Given the description of an element on the screen output the (x, y) to click on. 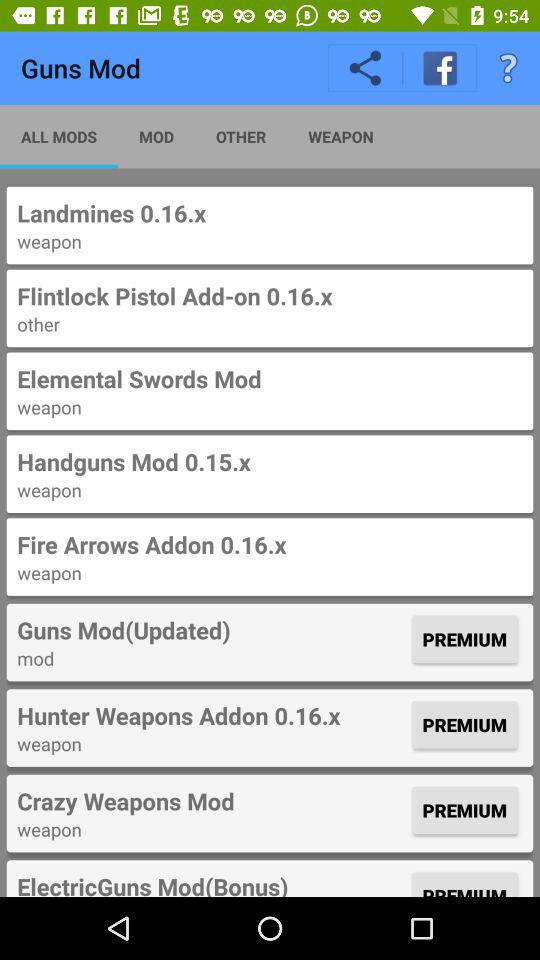
click the icon above the other icon (269, 295)
